Given the description of an element on the screen output the (x, y) to click on. 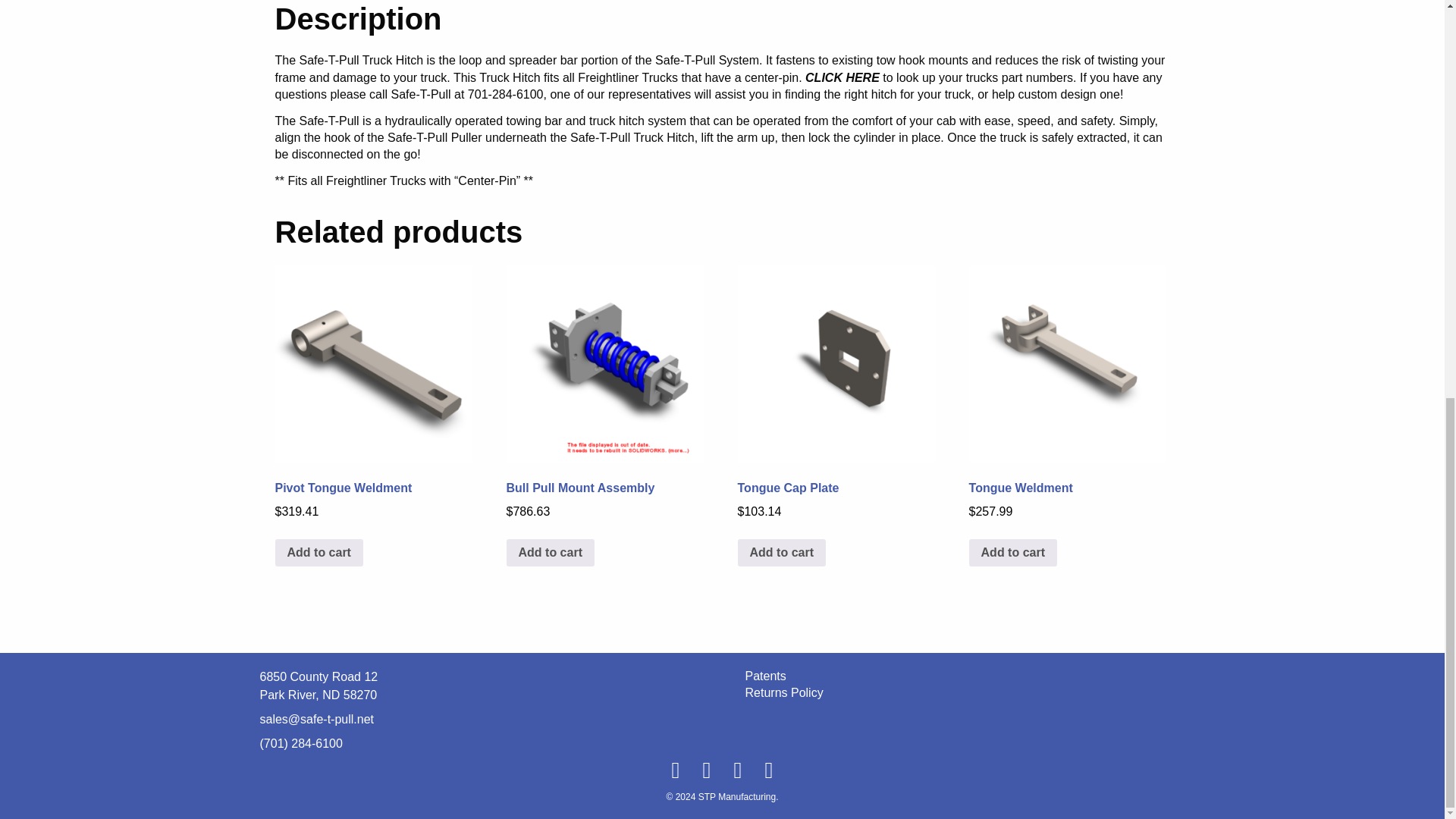
Add to cart (318, 552)
Add to cart (550, 552)
